Given the description of an element on the screen output the (x, y) to click on. 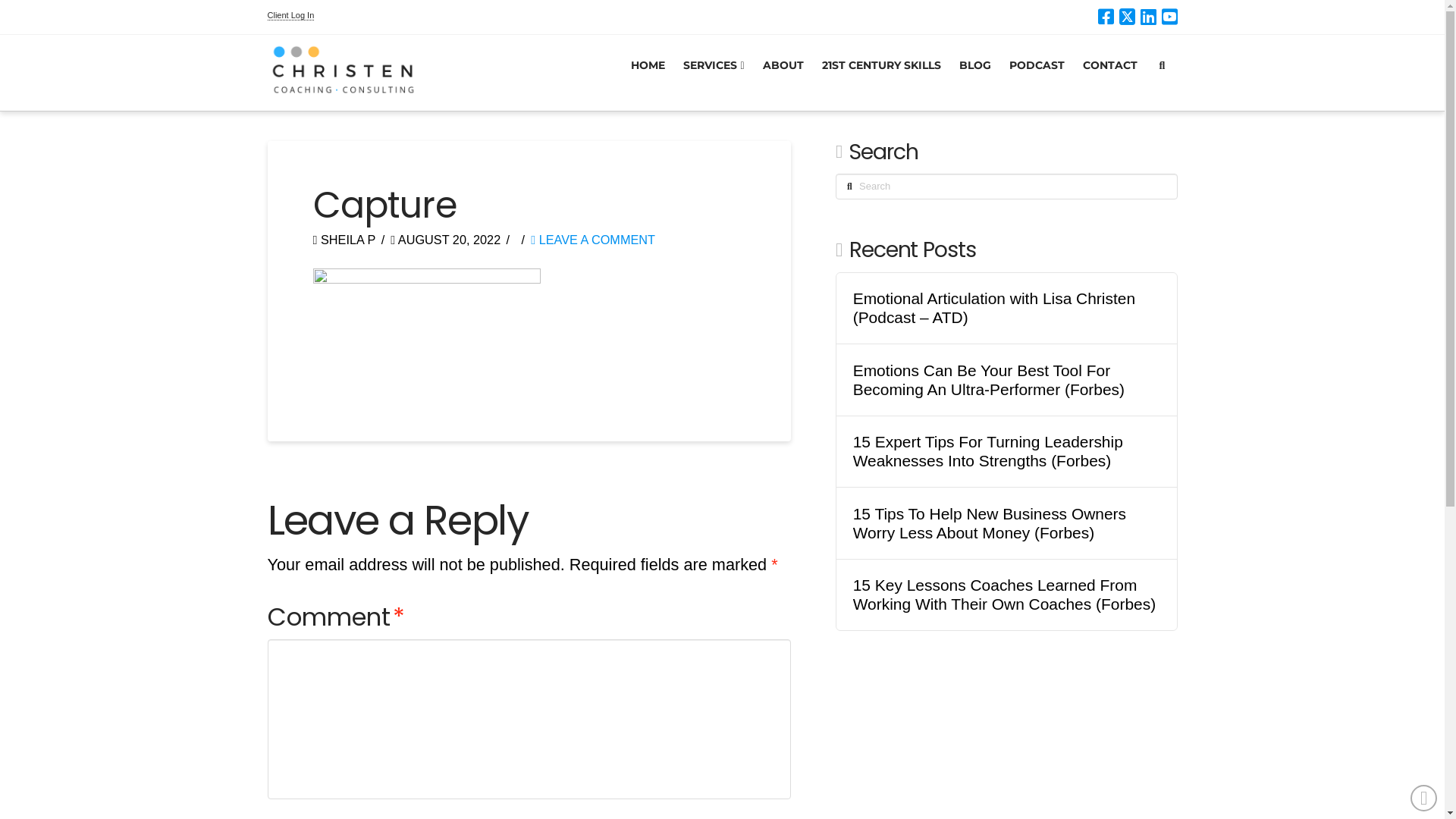
BLOG Element type: text (975, 72)
Facebook Element type: hover (1105, 16)
LinkedIn Element type: hover (1148, 16)
CONTACT Element type: text (1109, 72)
YouTube Element type: hover (1169, 16)
X / Twitter Element type: hover (1127, 16)
Back to Top Element type: hover (1423, 797)
LEAVE A COMMENT Element type: text (592, 239)
SERVICES Element type: text (713, 72)
PODCAST Element type: text (1036, 72)
ABOUT Element type: text (782, 72)
21ST CENTURY SKILLS Element type: text (881, 72)
Client Log In Element type: text (289, 15)
HOME Element type: text (647, 72)
